Given the description of an element on the screen output the (x, y) to click on. 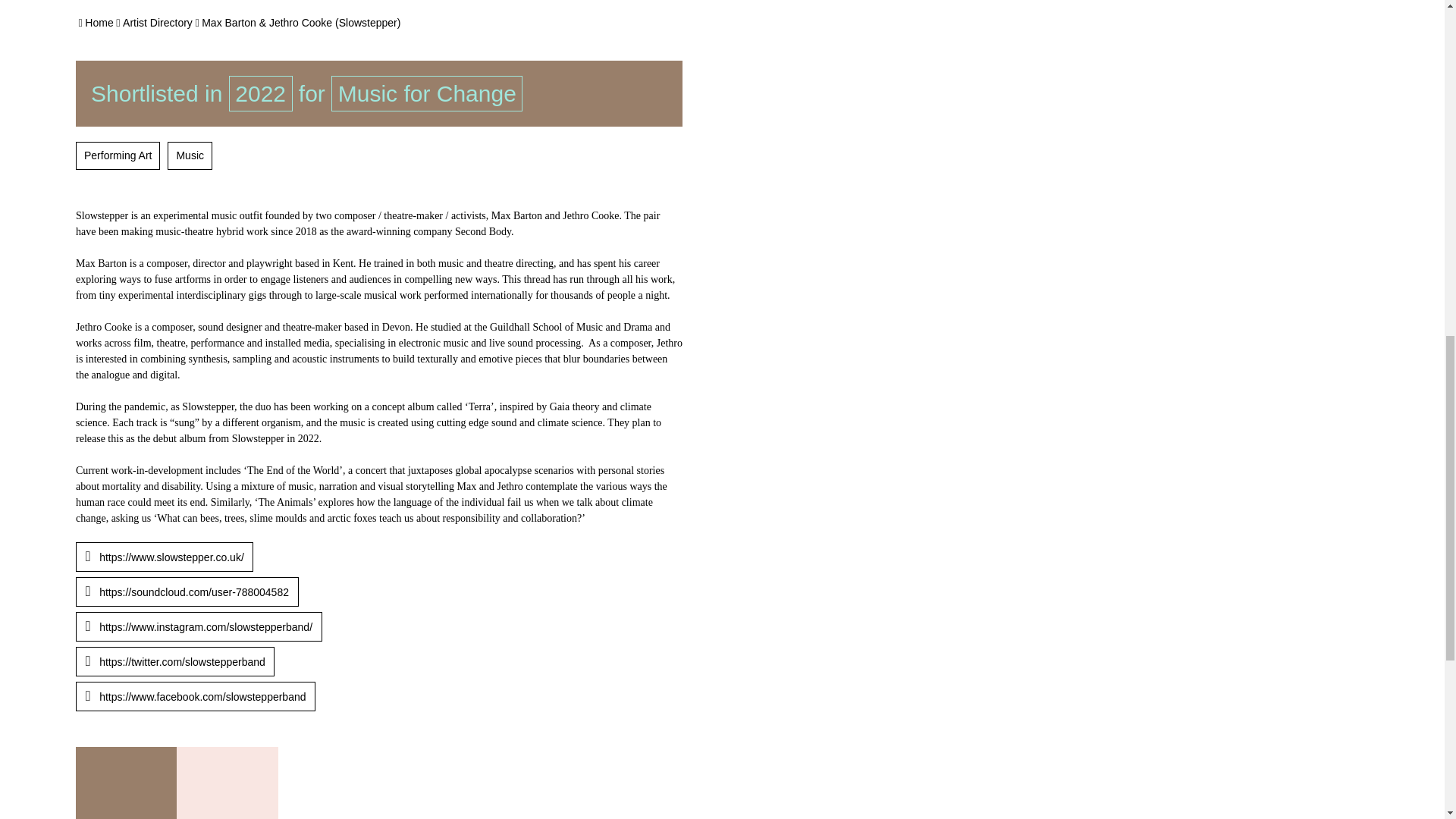
Artist Directory (157, 22)
Music (189, 155)
Home (98, 22)
2022 (260, 93)
Performing Art (117, 155)
Music for Change (426, 93)
